Given the description of an element on the screen output the (x, y) to click on. 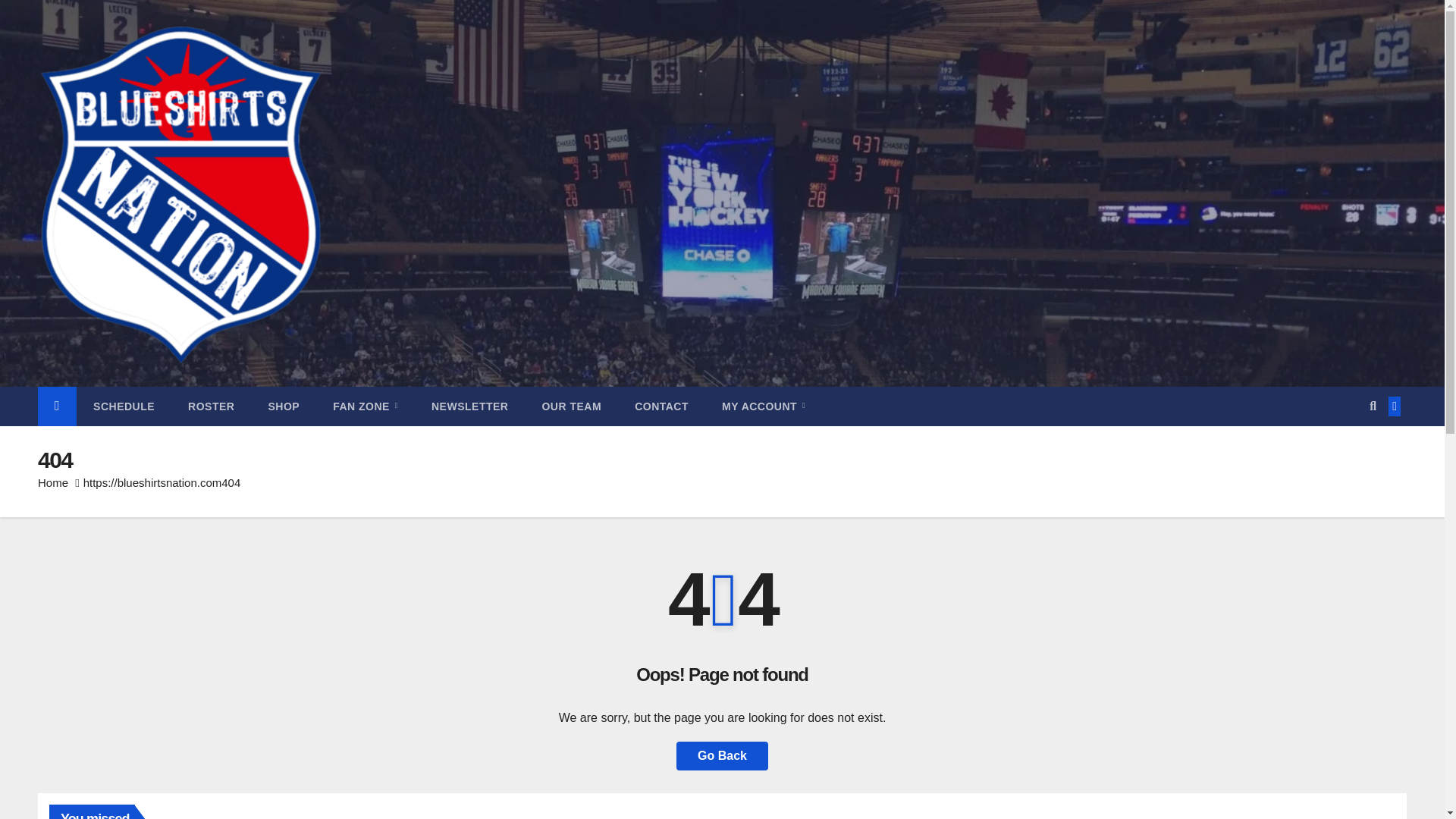
FAN ZONE (364, 405)
OUR TEAM (570, 405)
MY ACCOUNT (763, 405)
My account (763, 405)
Roster (210, 405)
SCHEDULE (124, 405)
ROSTER (210, 405)
Schedule (124, 405)
Fan Zone (364, 405)
Newsletter (469, 405)
NEWSLETTER (469, 405)
Go Back (722, 756)
Our Team (570, 405)
Shop (282, 405)
SHOP (282, 405)
